Given the description of an element on the screen output the (x, y) to click on. 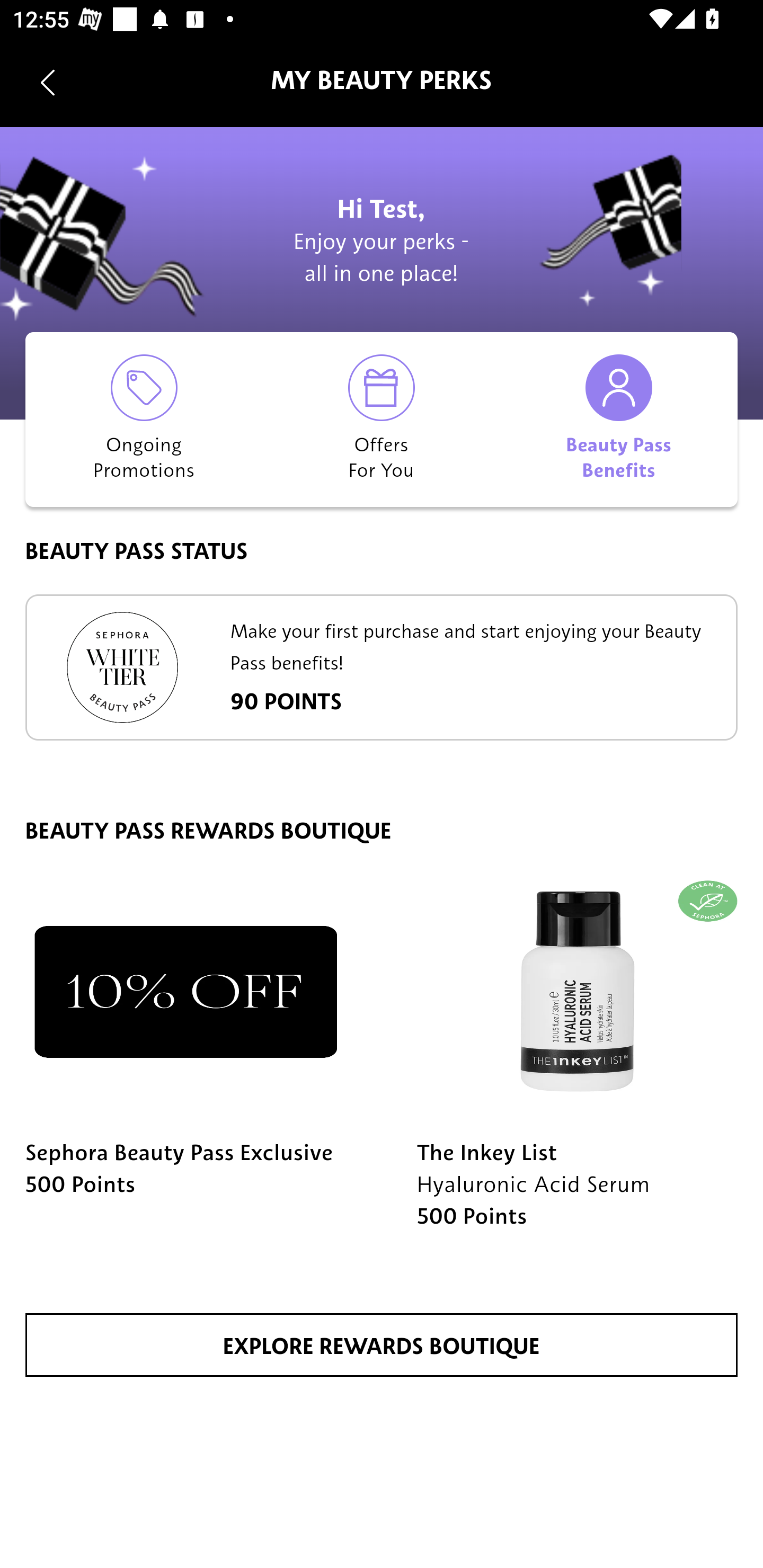
Ongoing Promotions (143, 419)
Offers
For You (381, 419)
Beauty Pass Benefits (619, 419)
EXPLORE REWARDS BOUTIQUE (381, 1345)
